Given the description of an element on the screen output the (x, y) to click on. 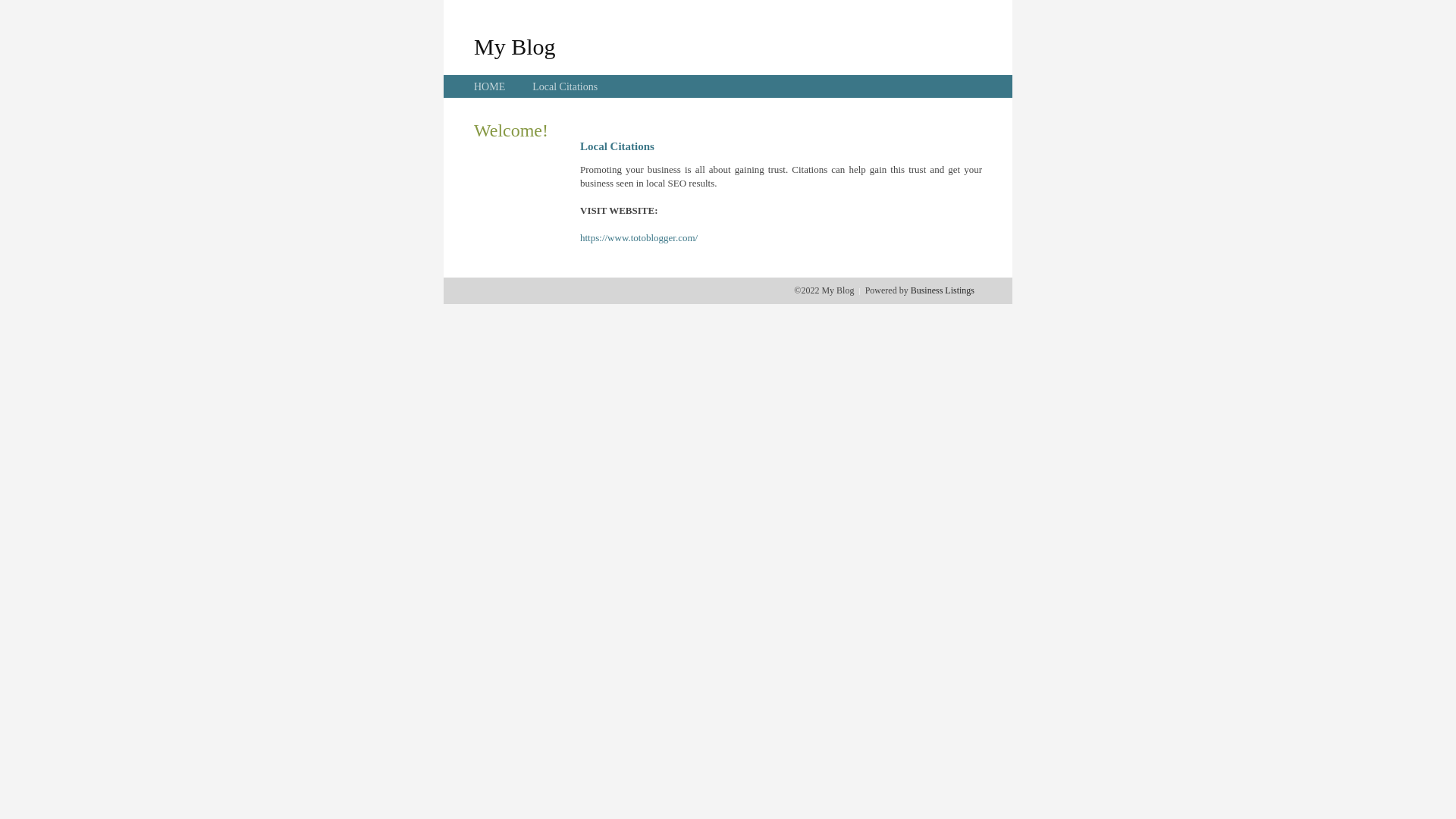
HOME Element type: text (489, 86)
My Blog Element type: text (514, 46)
Local Citations Element type: text (564, 86)
Business Listings Element type: text (942, 290)
https://www.totoblogger.com/ Element type: text (638, 237)
